Given the description of an element on the screen output the (x, y) to click on. 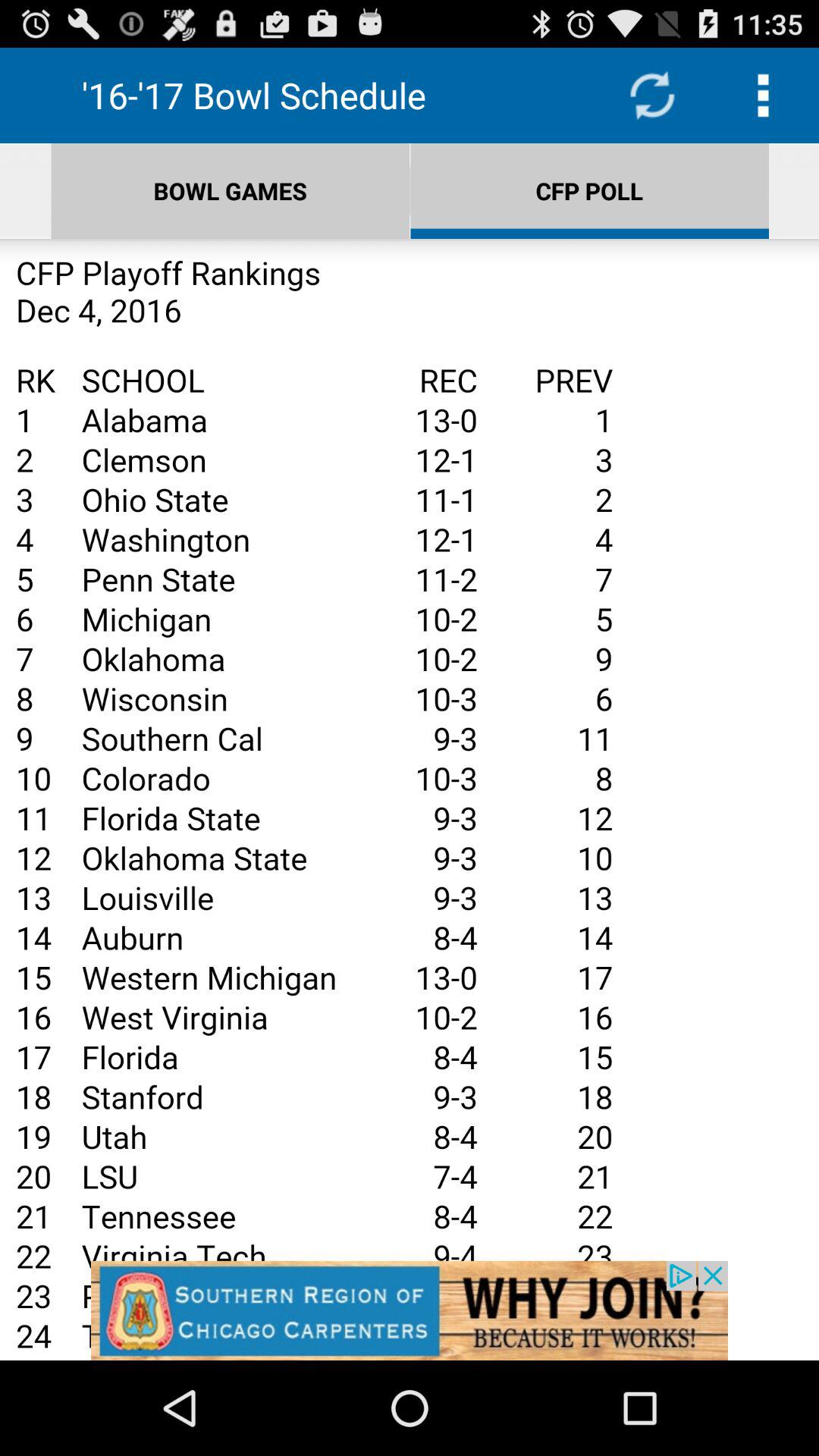
click to refresh (651, 95)
